Given the description of an element on the screen output the (x, y) to click on. 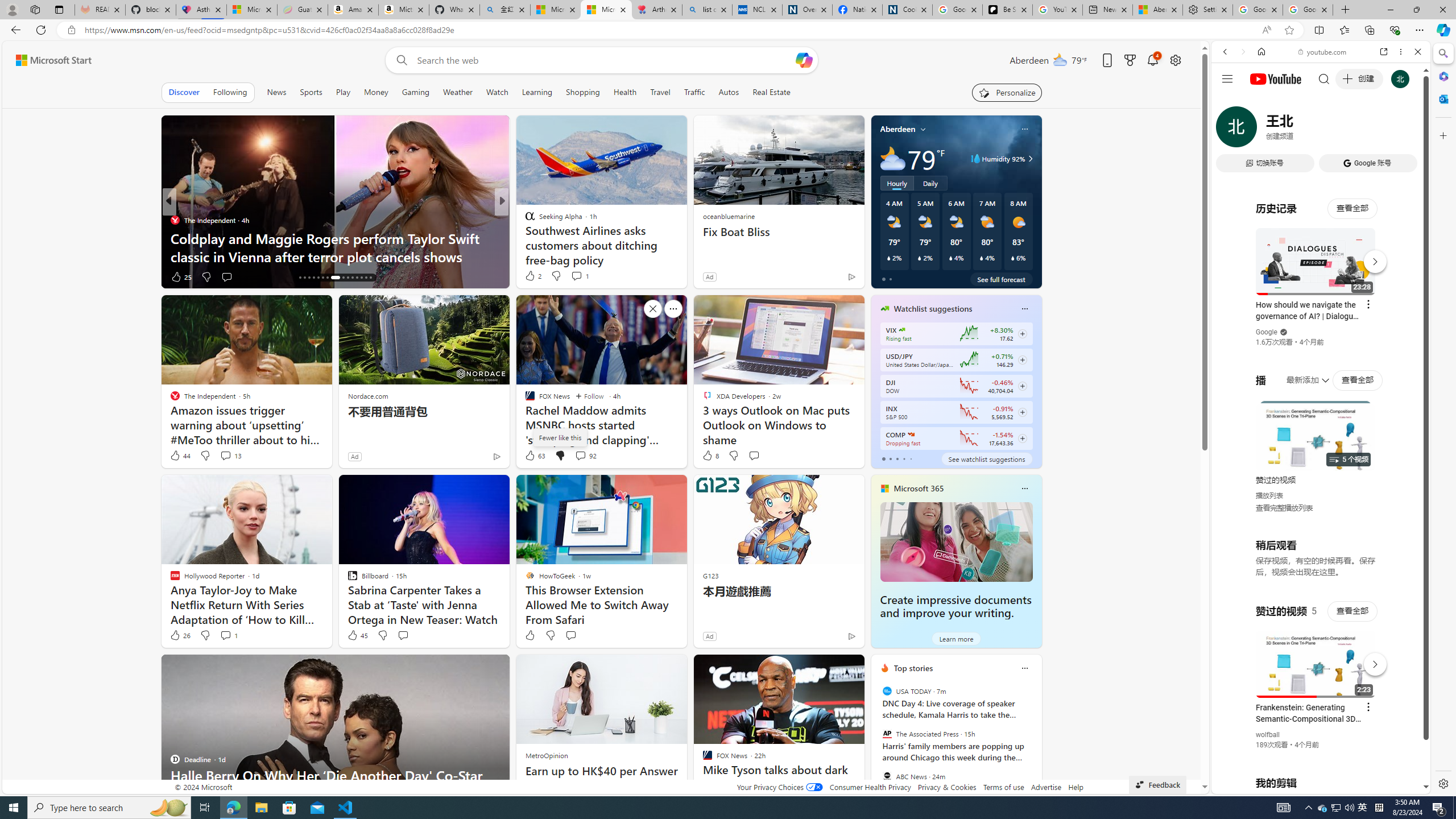
Forward (1242, 51)
Travel (660, 92)
Watchlist suggestions (932, 308)
View comments 7 Comment (583, 276)
Class: weather-current-precipitation-glyph (1012, 257)
AutomationID: tab-30 (370, 277)
AutomationID: tab-24 (341, 277)
Follow (588, 395)
Advertise (1045, 786)
View comments 92 Comment (580, 455)
Consumer Health Privacy (870, 786)
